Given the description of an element on the screen output the (x, y) to click on. 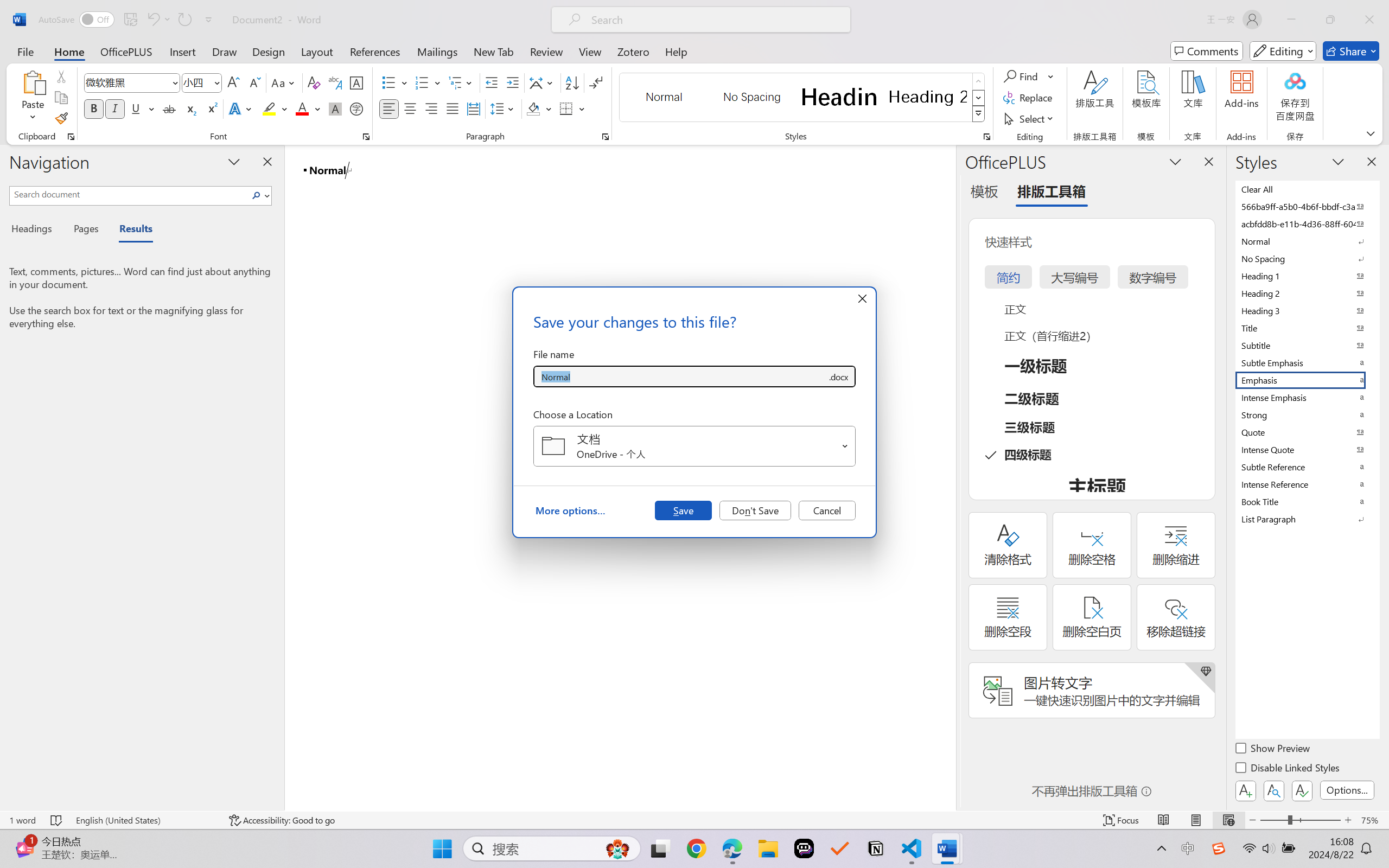
Subtle Reference (1306, 466)
Line and Paragraph Spacing (503, 108)
Heading 1 (839, 96)
Font Size (201, 82)
Borders (571, 108)
Find (1029, 75)
Font (132, 82)
Google Chrome (696, 848)
Read Mode (1163, 819)
Search (259, 195)
Show Preview (1273, 749)
